Given the description of an element on the screen output the (x, y) to click on. 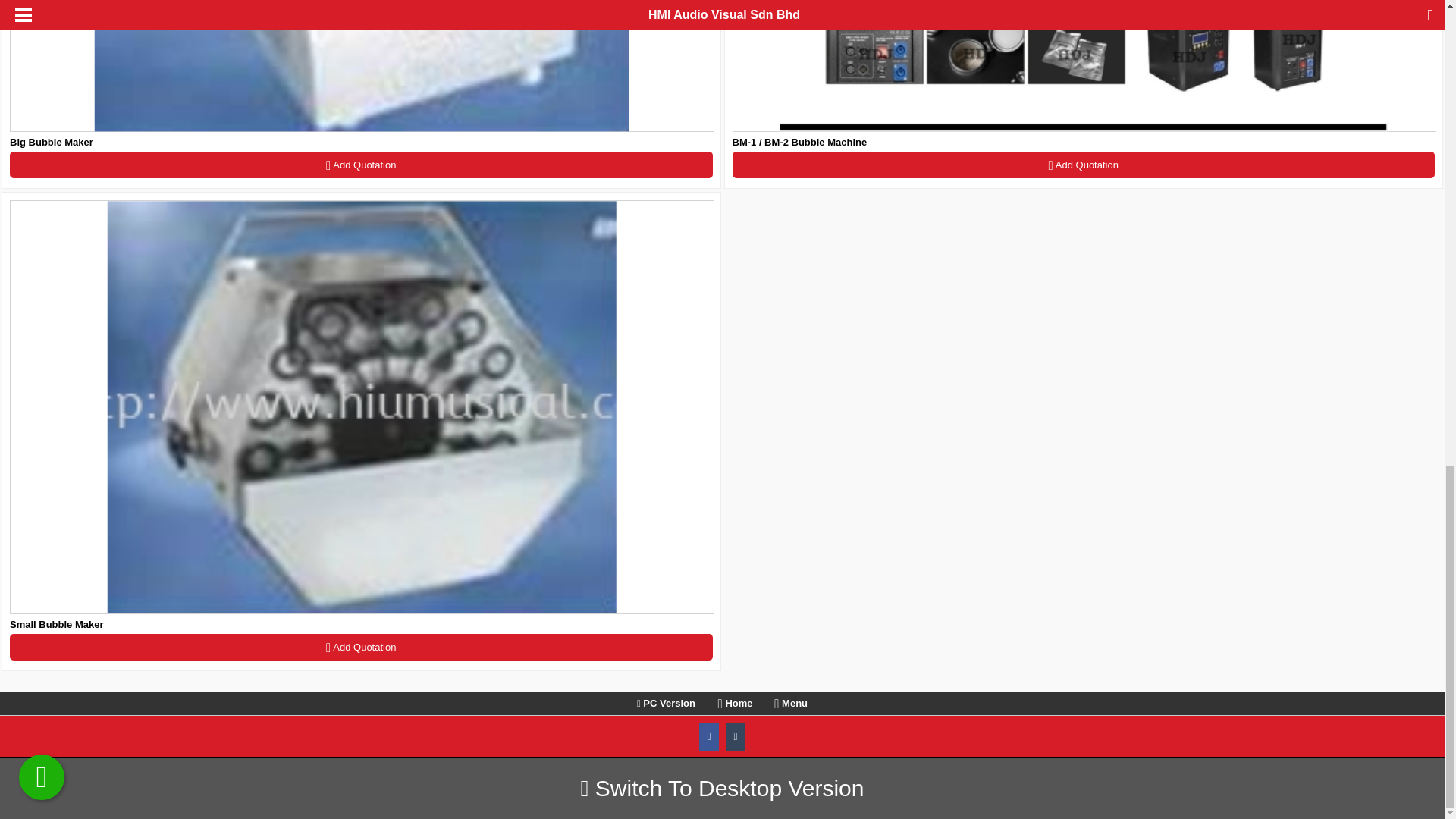
Add Quotation (361, 646)
Add Quotation (1083, 164)
Add Quotation (361, 164)
